Given the description of an element on the screen output the (x, y) to click on. 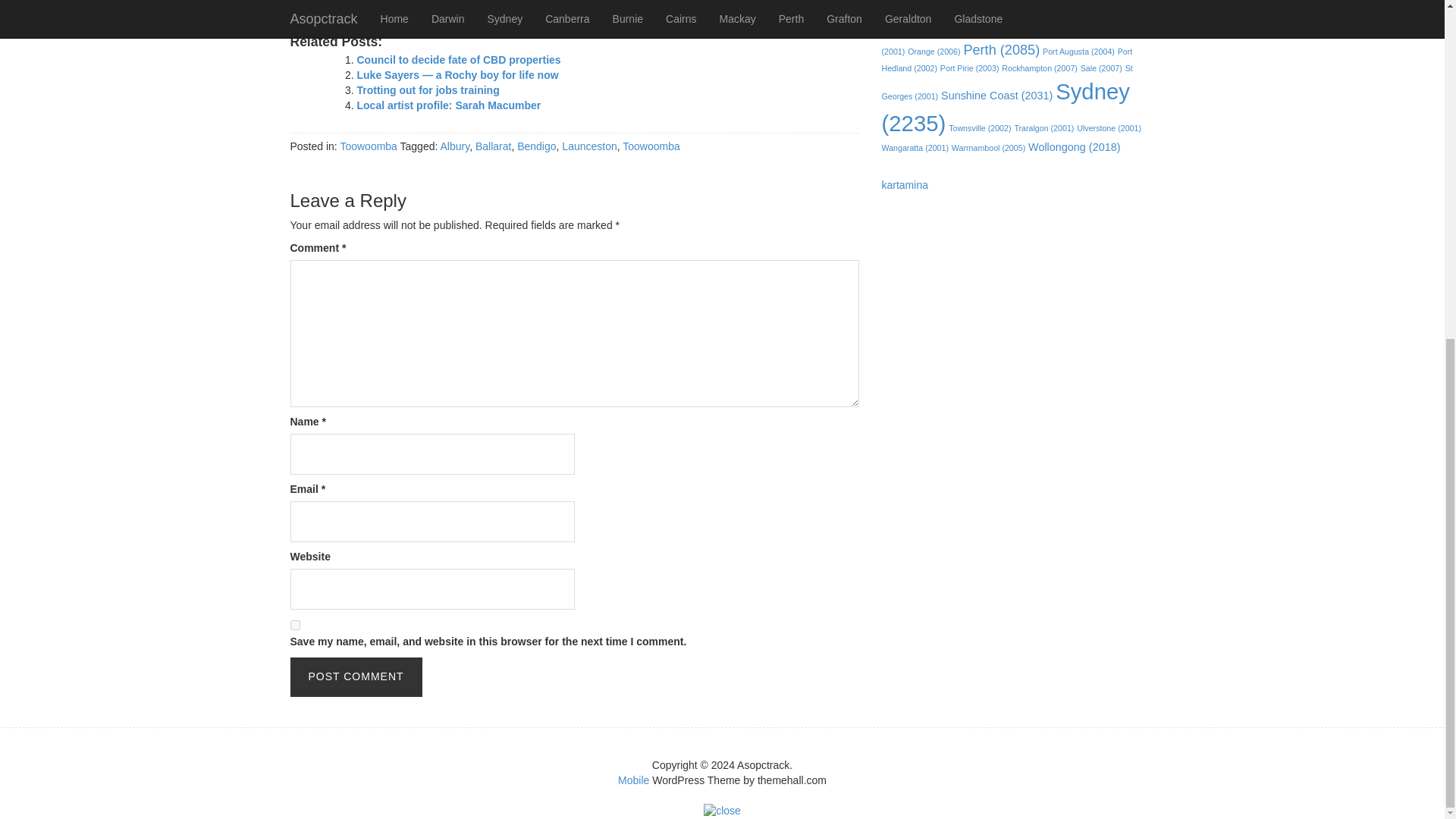
Toowoomba (368, 146)
Post Comment (355, 676)
Toowoomba (651, 146)
Albury (453, 146)
Council to decide fate of CBD properties (458, 60)
Local artist profile: Sarah Macumber (448, 105)
Ballarat (493, 146)
Trotting out for jobs training (427, 90)
Launceston (588, 146)
Post Comment (355, 676)
